Given the description of an element on the screen output the (x, y) to click on. 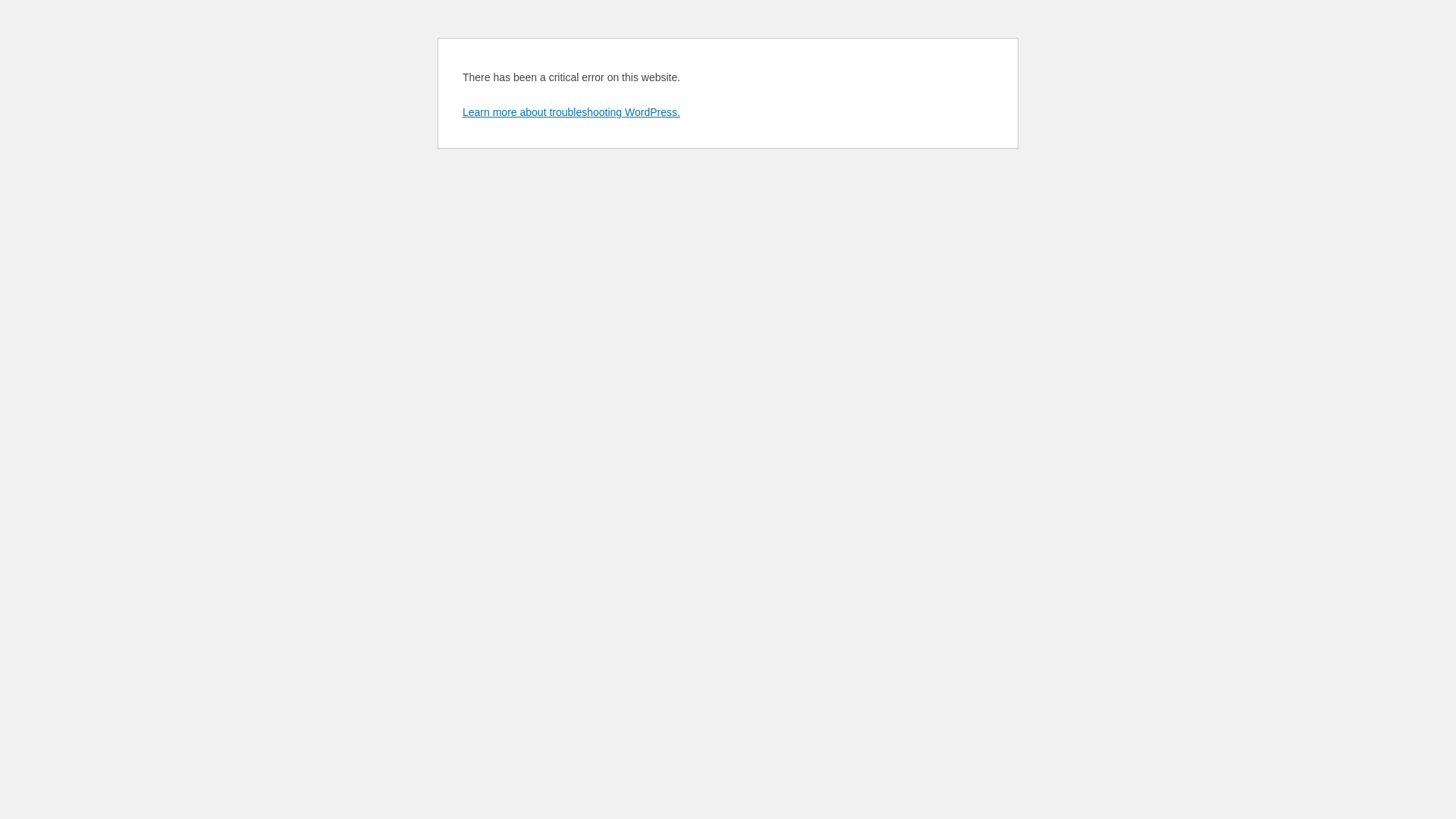
Learn more about troubleshooting WordPress. Element type: text (571, 112)
